Given the description of an element on the screen output the (x, y) to click on. 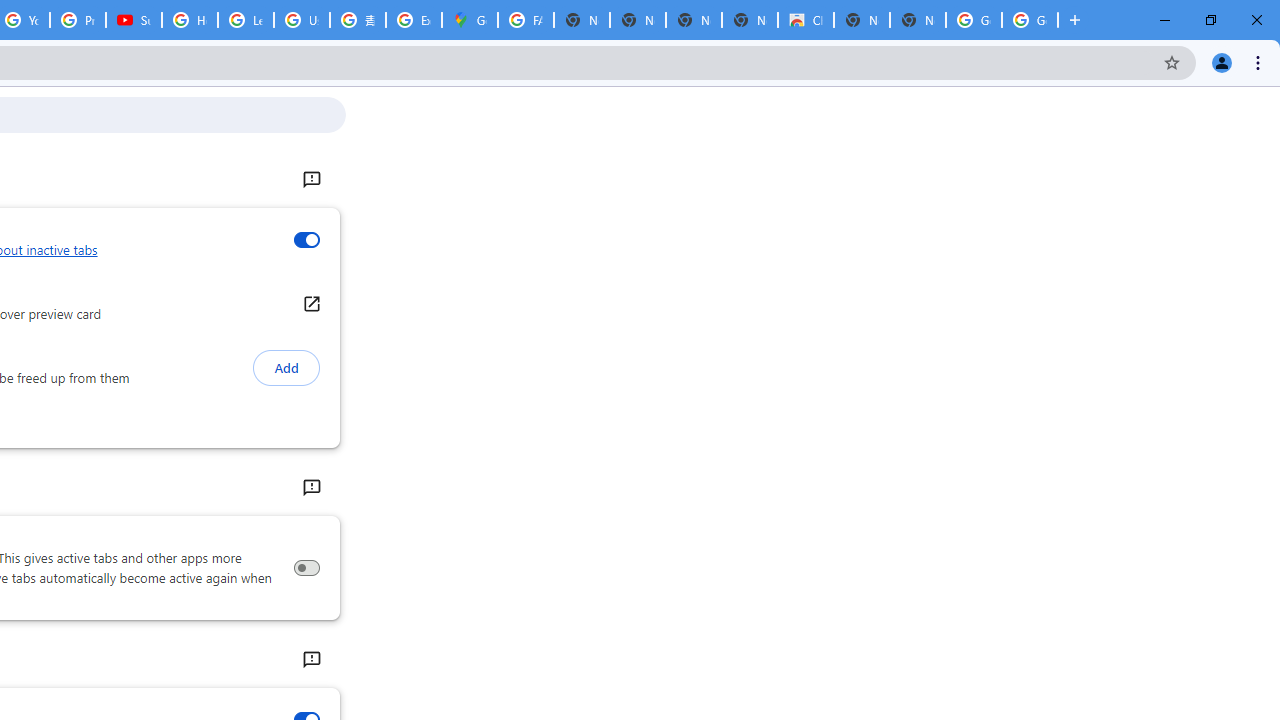
General (310, 179)
Add to the "always keep these sites active" list (286, 368)
New Tab (917, 20)
Google Maps (469, 20)
Inactive tabs appearance (306, 240)
How Chrome protects your passwords - Google Chrome Help (189, 20)
Chrome Web Store (806, 20)
